Given the description of an element on the screen output the (x, y) to click on. 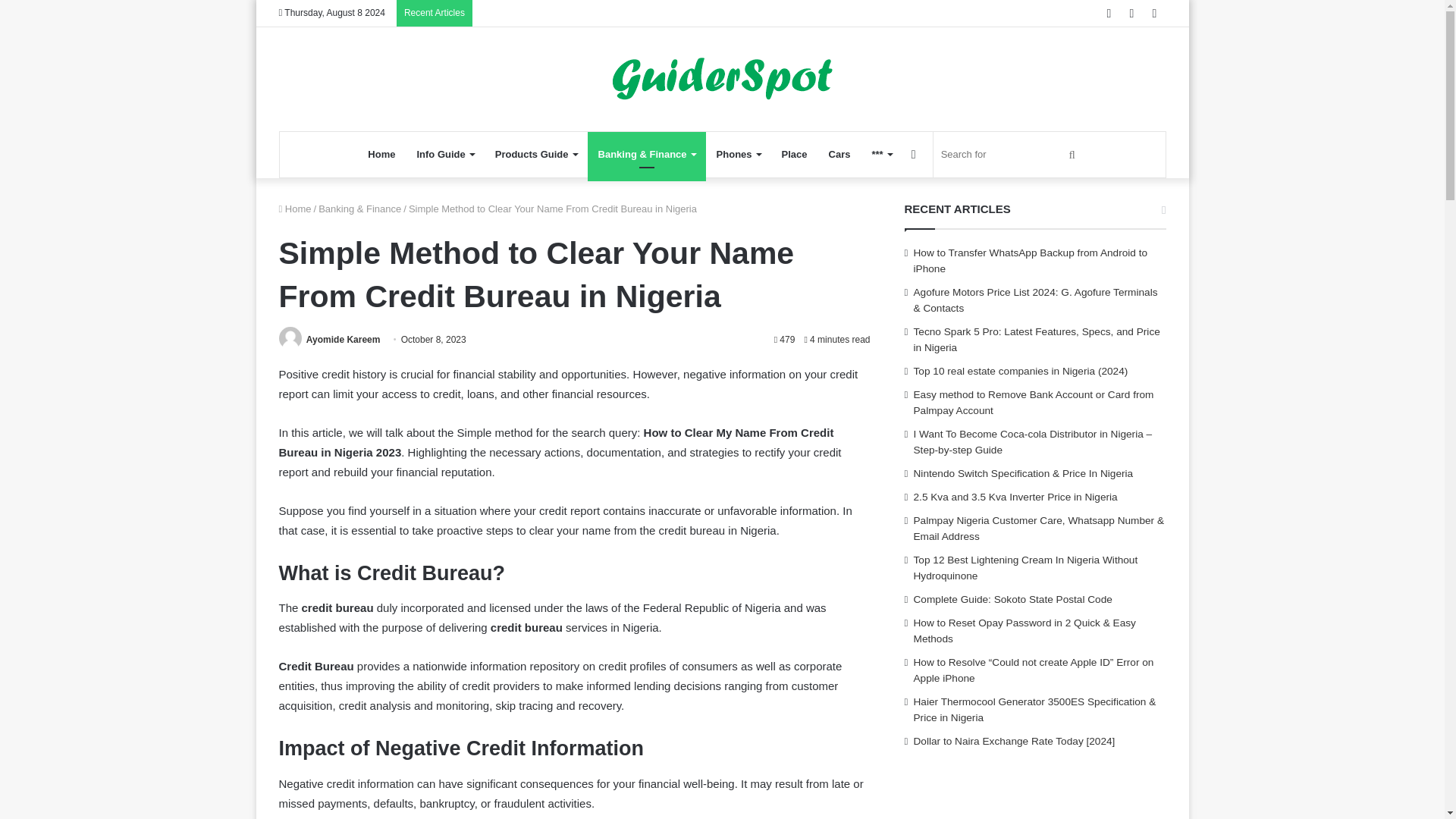
Ayomide Kareem (342, 339)
Cars (839, 154)
Info Guide (444, 154)
Home (381, 154)
GuiderSpot (722, 78)
Place (794, 154)
Search for (1010, 154)
Home (295, 208)
Ayomide Kareem (342, 339)
Products Guide (536, 154)
